Given the description of an element on the screen output the (x, y) to click on. 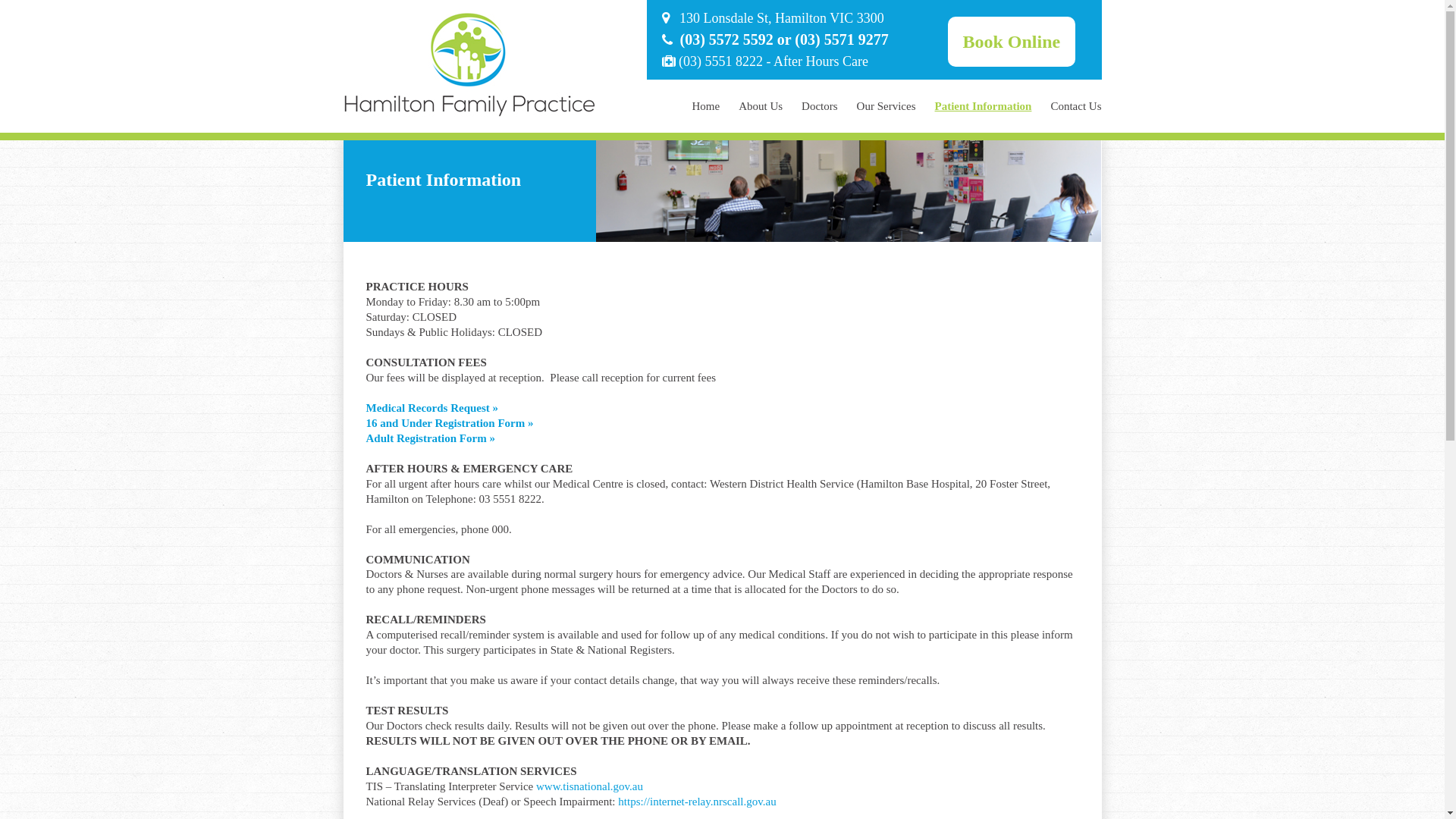
Doctors Element type: text (819, 105)
www.tisnational.gov.au Element type: text (589, 786)
Book Online Element type: text (1011, 41)
Our Services Element type: text (886, 105)
Patient Information Element type: text (983, 105)
About Us Element type: text (760, 105)
Home Element type: text (706, 105)
https://internet-relay.nrscall.gov.au Element type: text (696, 801)
Contact Us Element type: text (1075, 105)
